Given the description of an element on the screen output the (x, y) to click on. 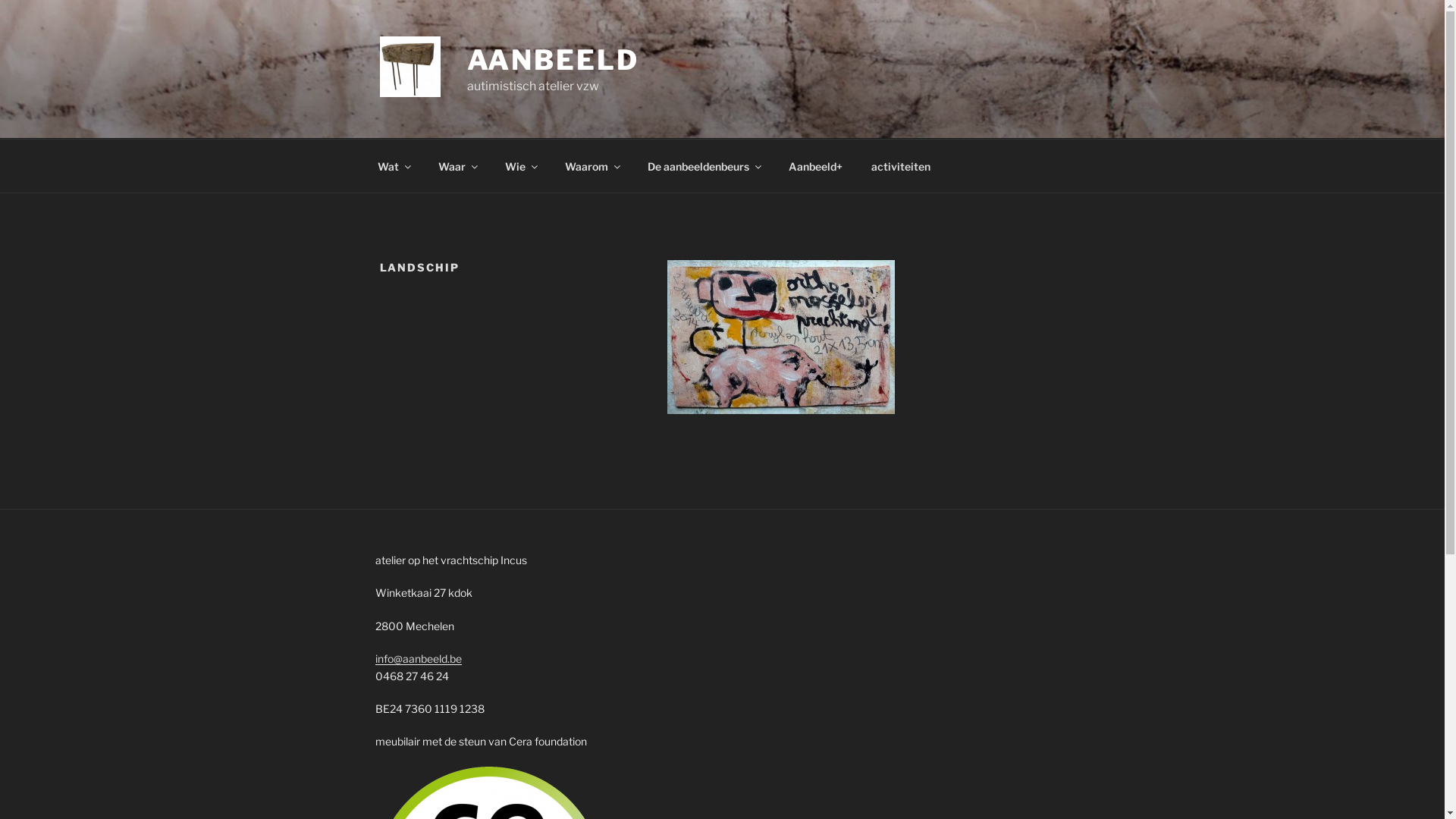
Wat Element type: text (393, 165)
Wie Element type: text (520, 165)
Waarom Element type: text (592, 165)
AANBEELD Element type: text (553, 59)
De aanbeeldenbeurs Element type: text (702, 165)
info@aanbeeld.be Element type: text (417, 658)
Naar de inhoud springen Element type: text (0, 0)
Waar Element type: text (456, 165)
Aanbeeld+ Element type: text (815, 165)
activiteiten Element type: text (901, 165)
